Given the description of an element on the screen output the (x, y) to click on. 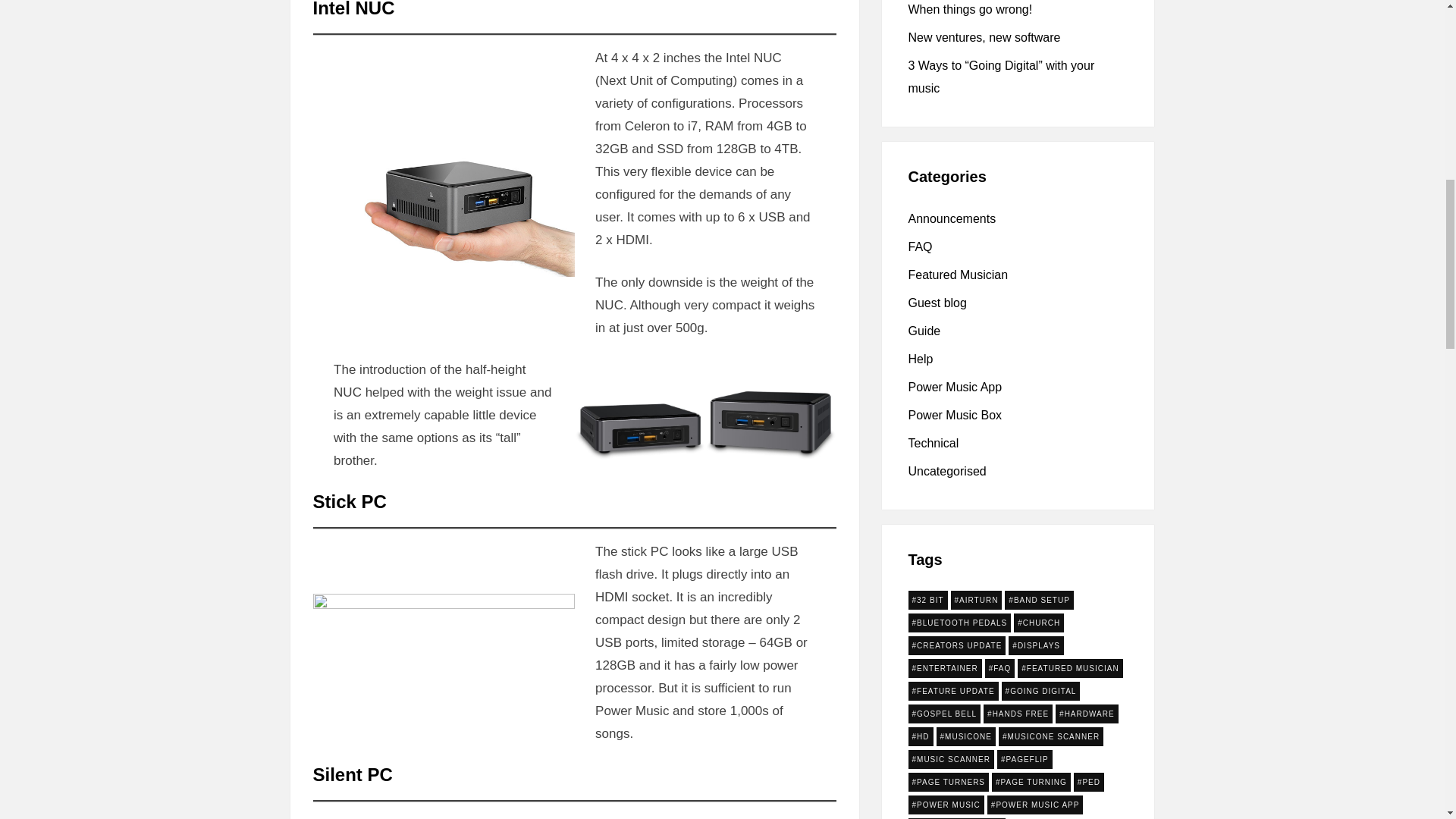
Featured Musician (958, 274)
Guide (924, 330)
Guest blog (937, 302)
When things go wrong! (970, 9)
Help (920, 358)
New ventures, new software (984, 37)
FAQ (920, 246)
Announcements (951, 218)
